Given the description of an element on the screen output the (x, y) to click on. 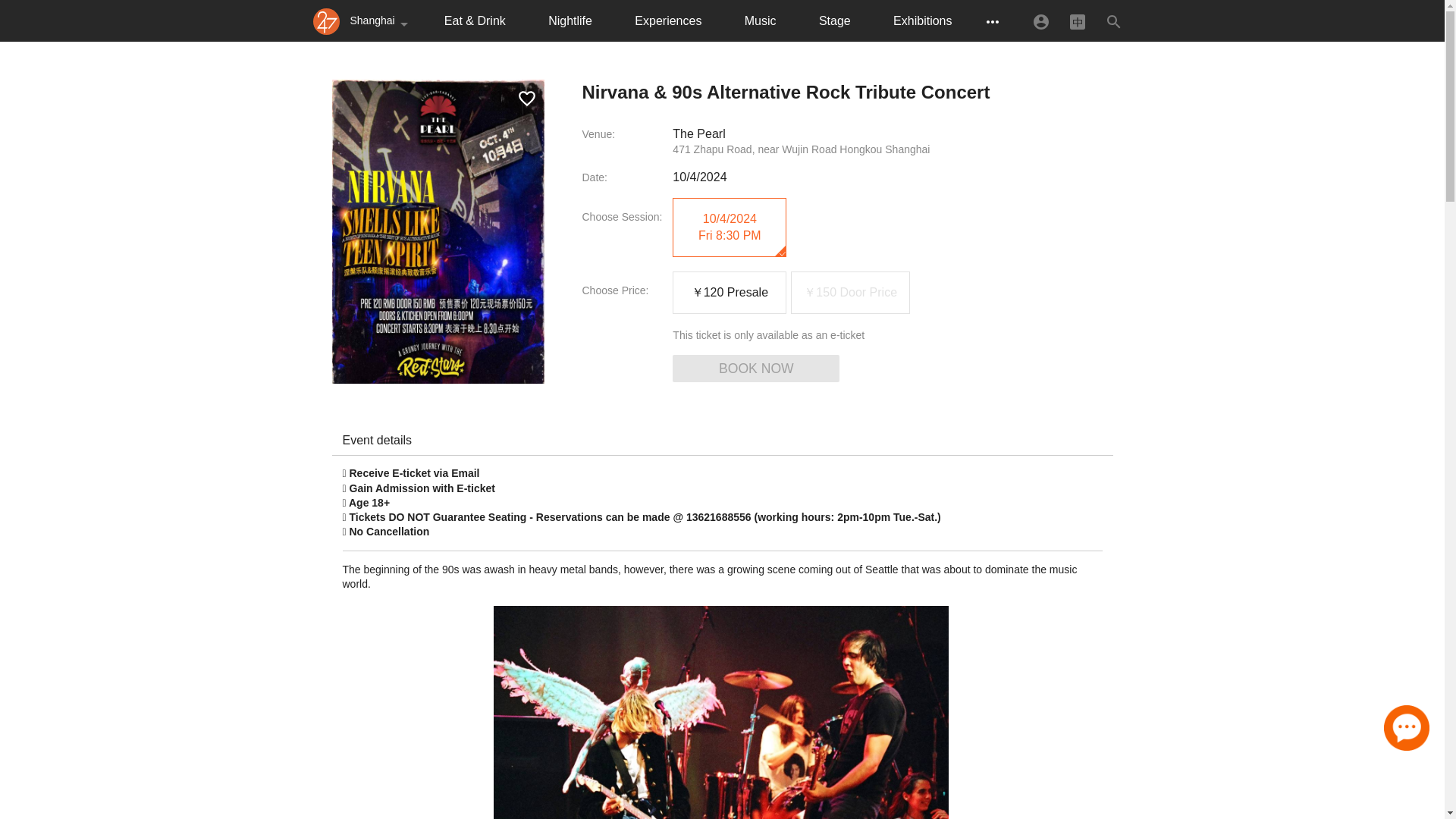
Shanghai (381, 20)
Stage (833, 21)
Exhibitions (922, 21)
Music (759, 21)
BOOK NOW (756, 368)
Nightlife (569, 21)
Experiences (668, 21)
